Given the description of an element on the screen output the (x, y) to click on. 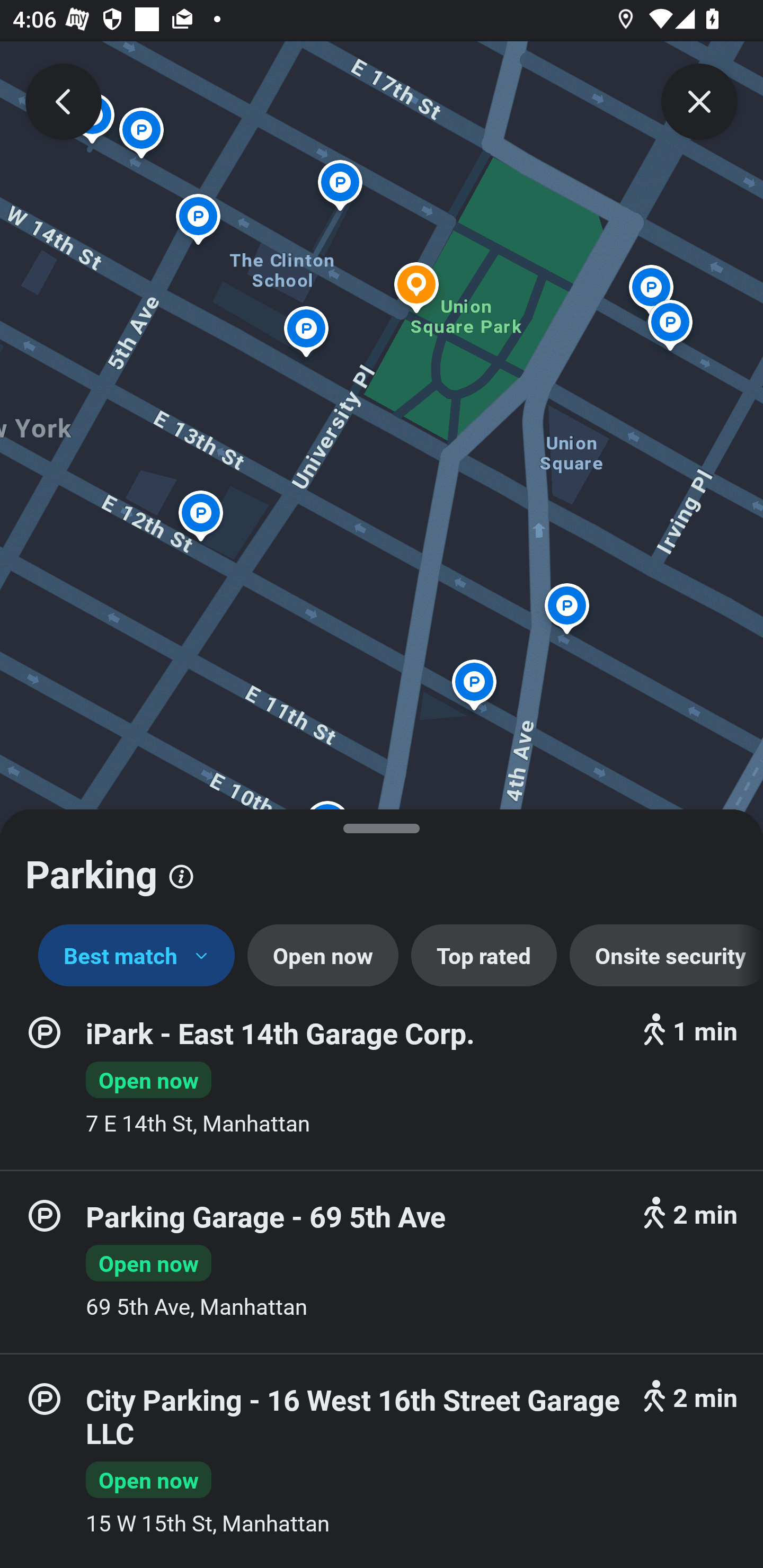
Parking (381, 867)
Best match (136, 955)
Open now (322, 955)
Top rated (483, 955)
Onsite security (666, 955)
